Given the description of an element on the screen output the (x, y) to click on. 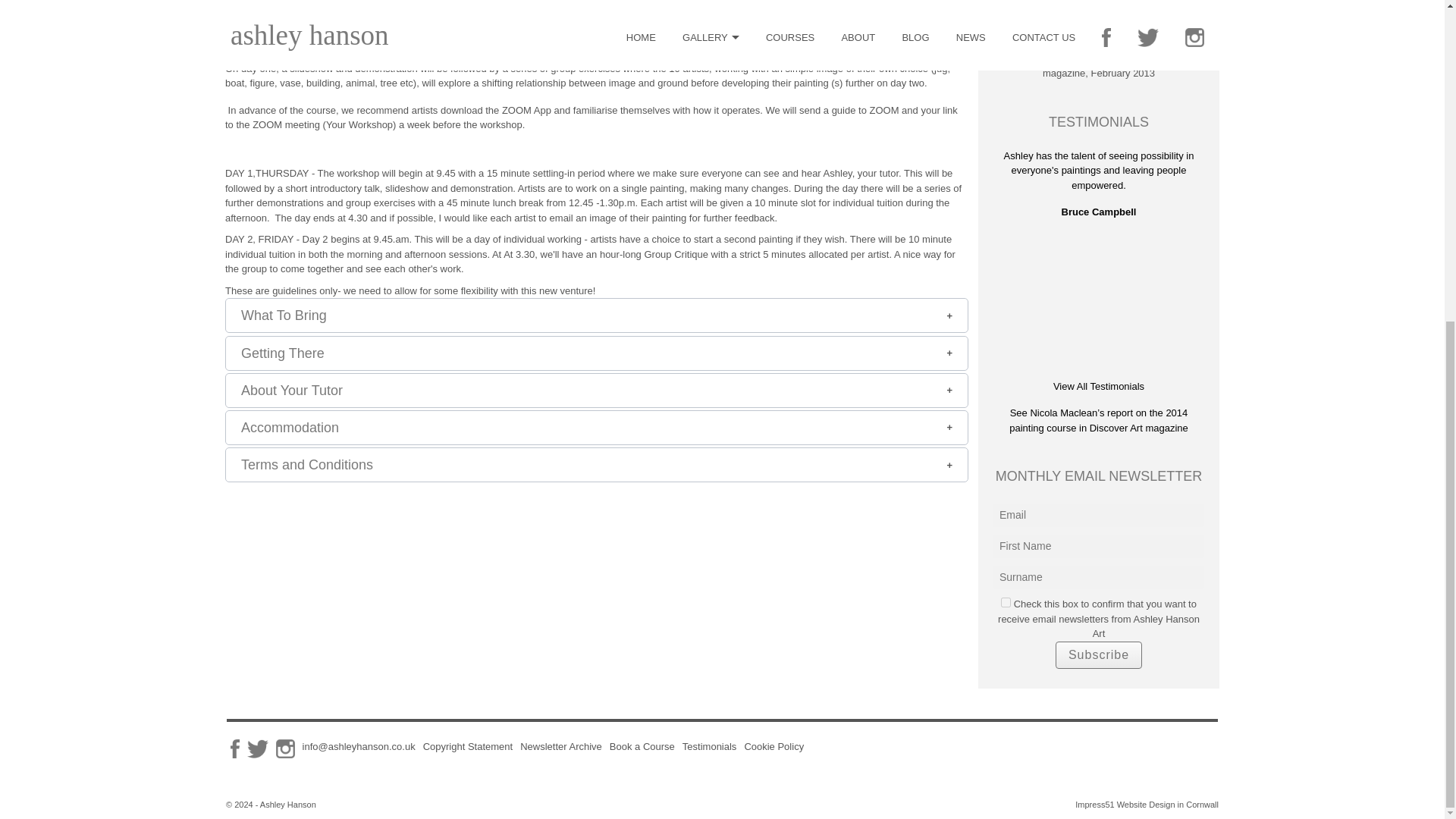
Subscribe (1098, 655)
Newsletter Archive (560, 746)
Copyright Statement (468, 746)
1 (1005, 602)
Impress51 Website Design in Cornwall (1146, 804)
View All Testimonials (1098, 386)
Subscribe (1098, 655)
Cookie Policy (773, 746)
Testimonials (709, 746)
Book a Course (642, 746)
